Given the description of an element on the screen output the (x, y) to click on. 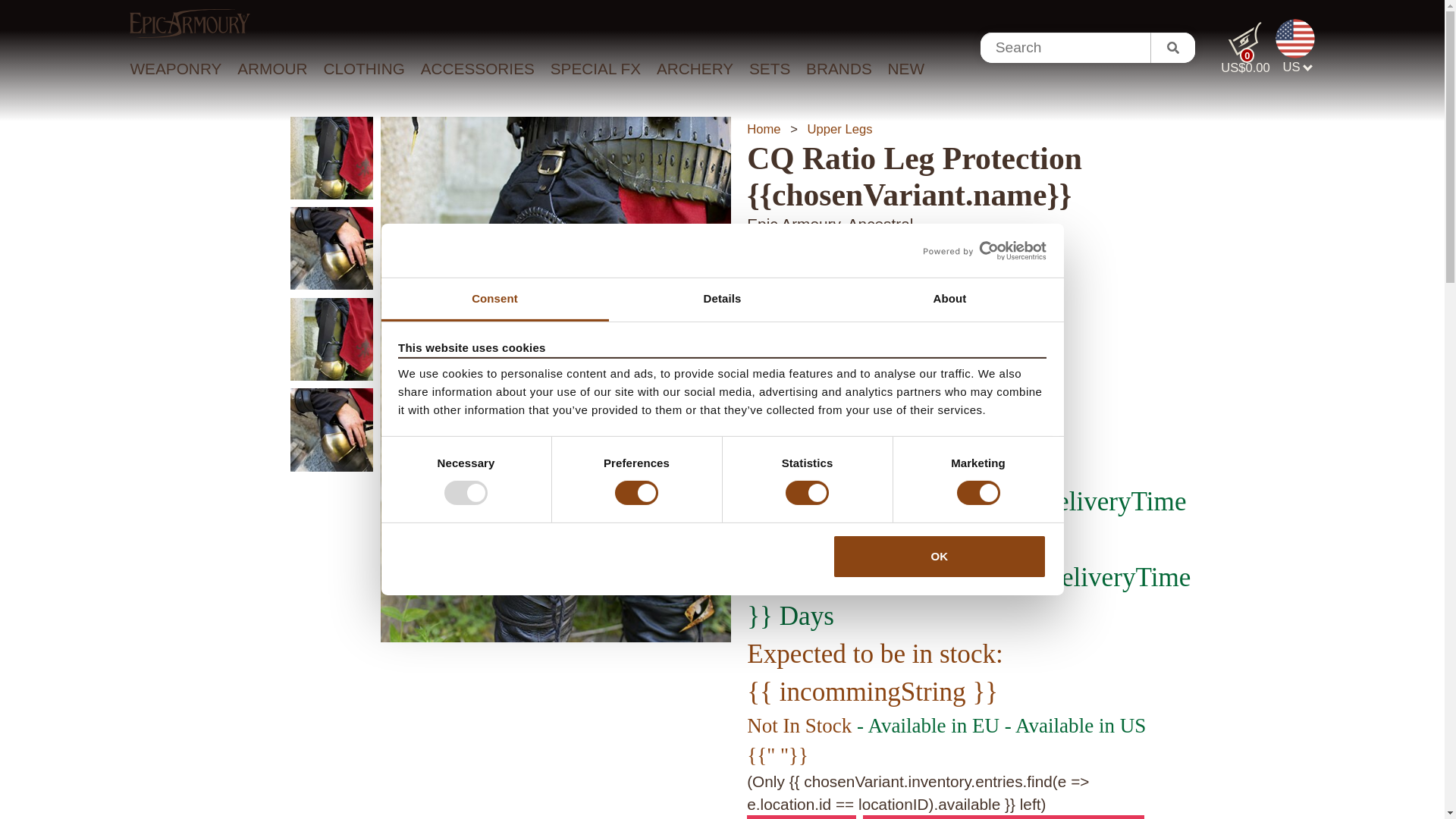
About (948, 299)
Details (721, 299)
Consent (494, 299)
OK (939, 556)
